Given the description of an element on the screen output the (x, y) to click on. 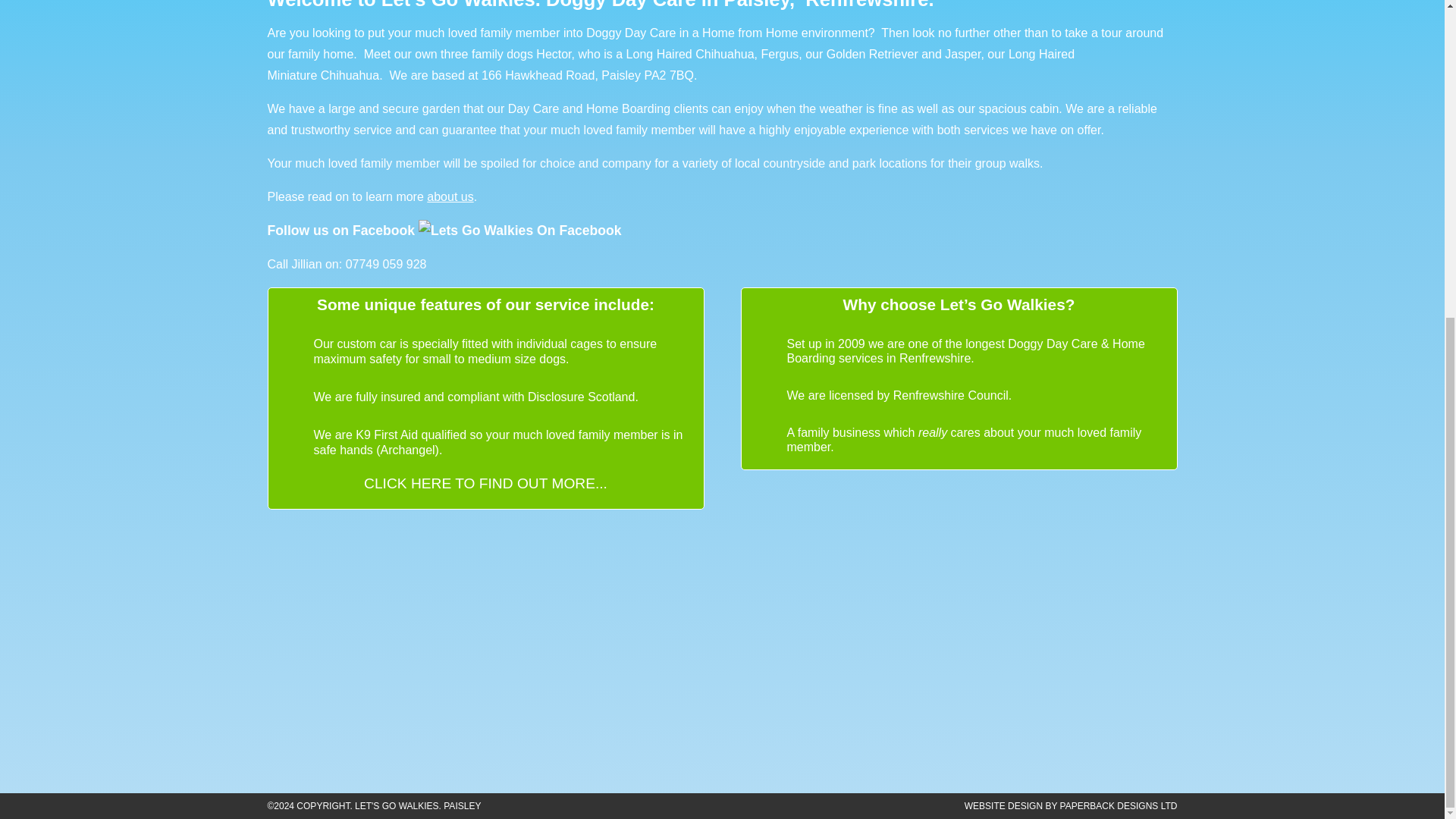
PAPERBACK DESIGNS LTD (1118, 805)
about us (449, 196)
CLICK HERE TO FIND OUT MORE... (485, 483)
Follow us on Facebook (443, 230)
WEBSITE DESIGN (1002, 805)
